Given the description of an element on the screen output the (x, y) to click on. 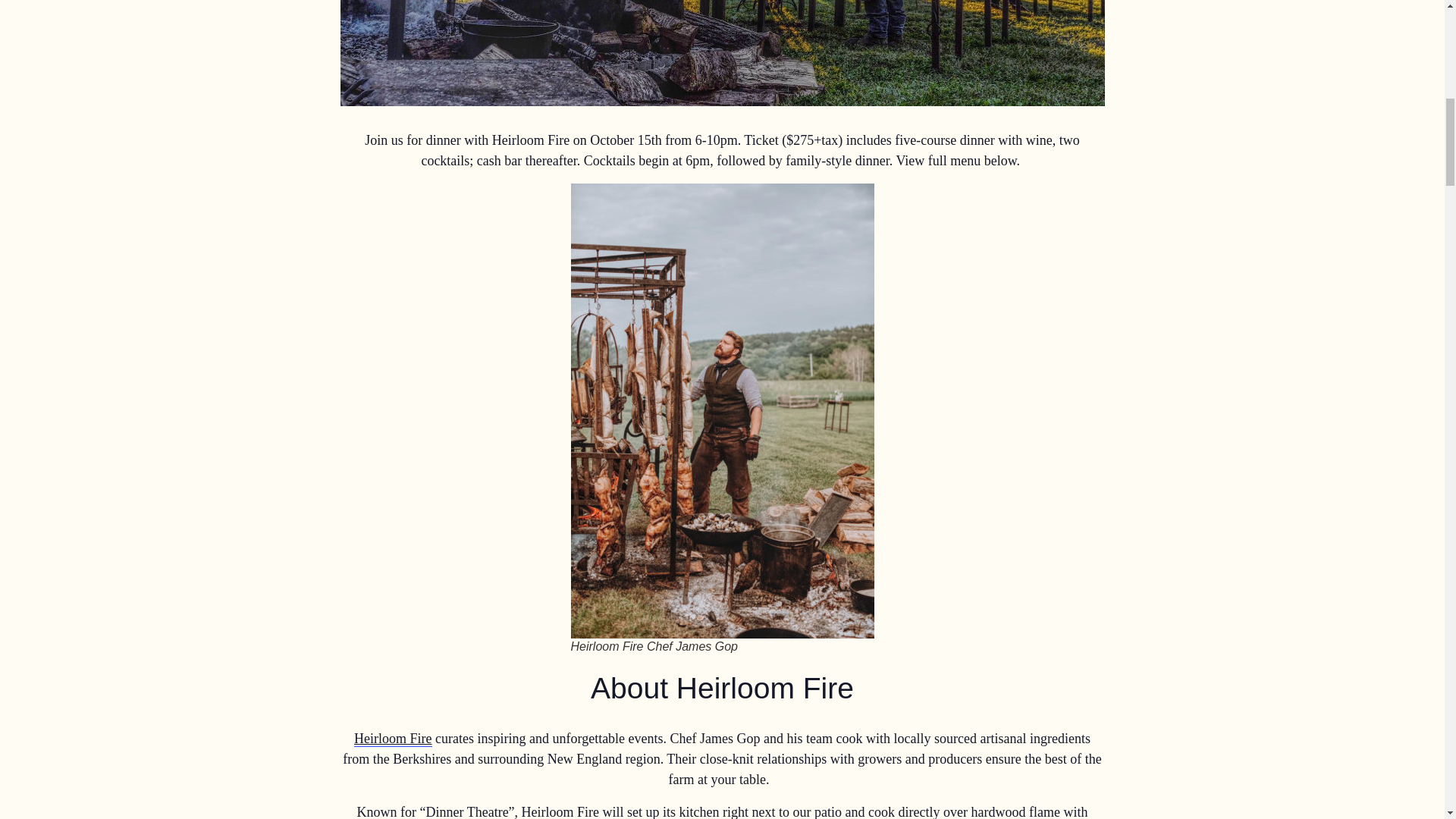
Heirloom Fire (391, 738)
